Given the description of an element on the screen output the (x, y) to click on. 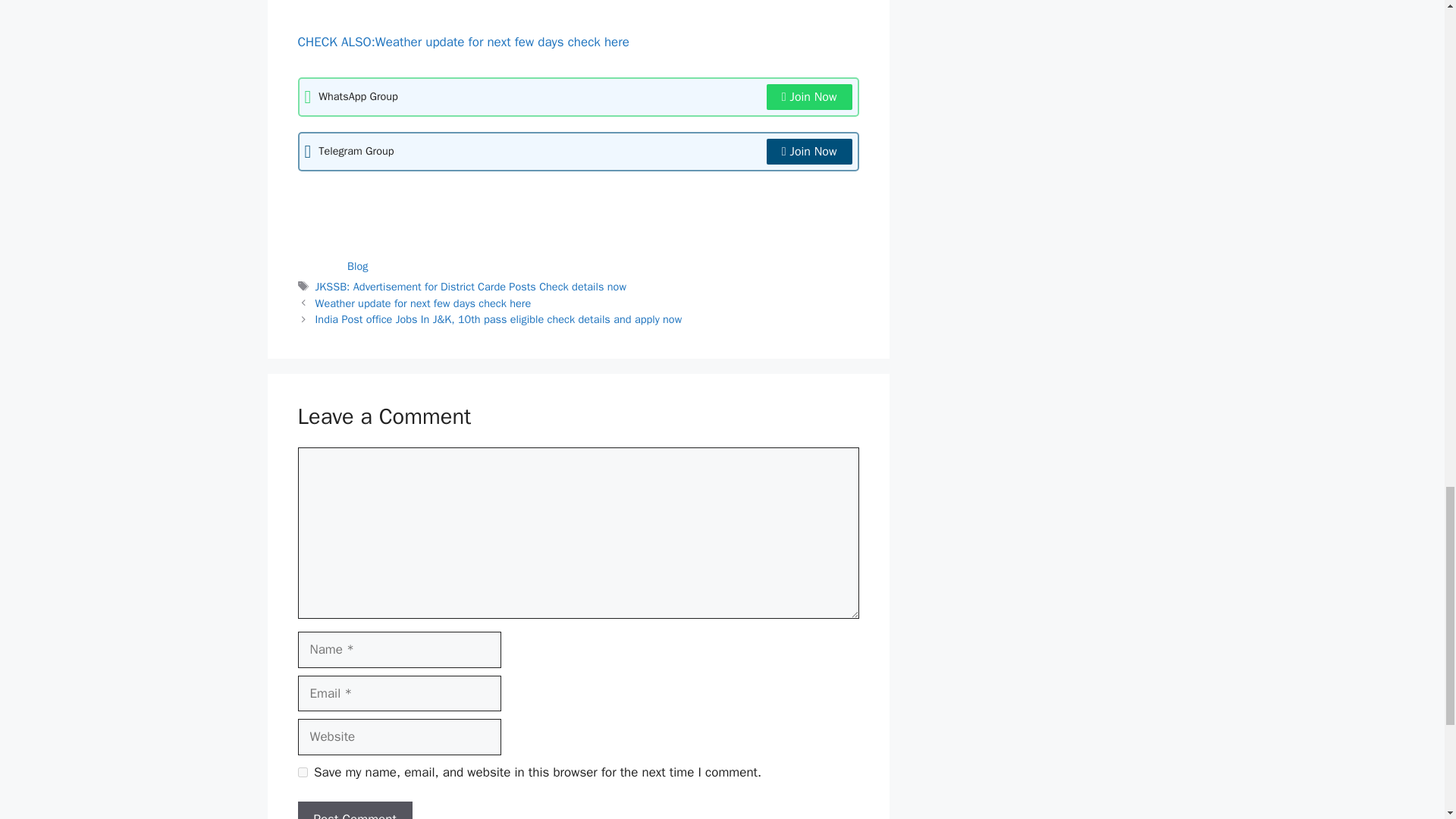
Join Now (809, 151)
Categories (322, 266)
Weather update for next few days check here  (424, 303)
Blog (357, 265)
CHECK ALSO:Weather update for next few days check here  (464, 41)
Join Now (809, 96)
Post Comment (354, 810)
yes (302, 772)
Post Comment (354, 810)
